Given the description of an element on the screen output the (x, y) to click on. 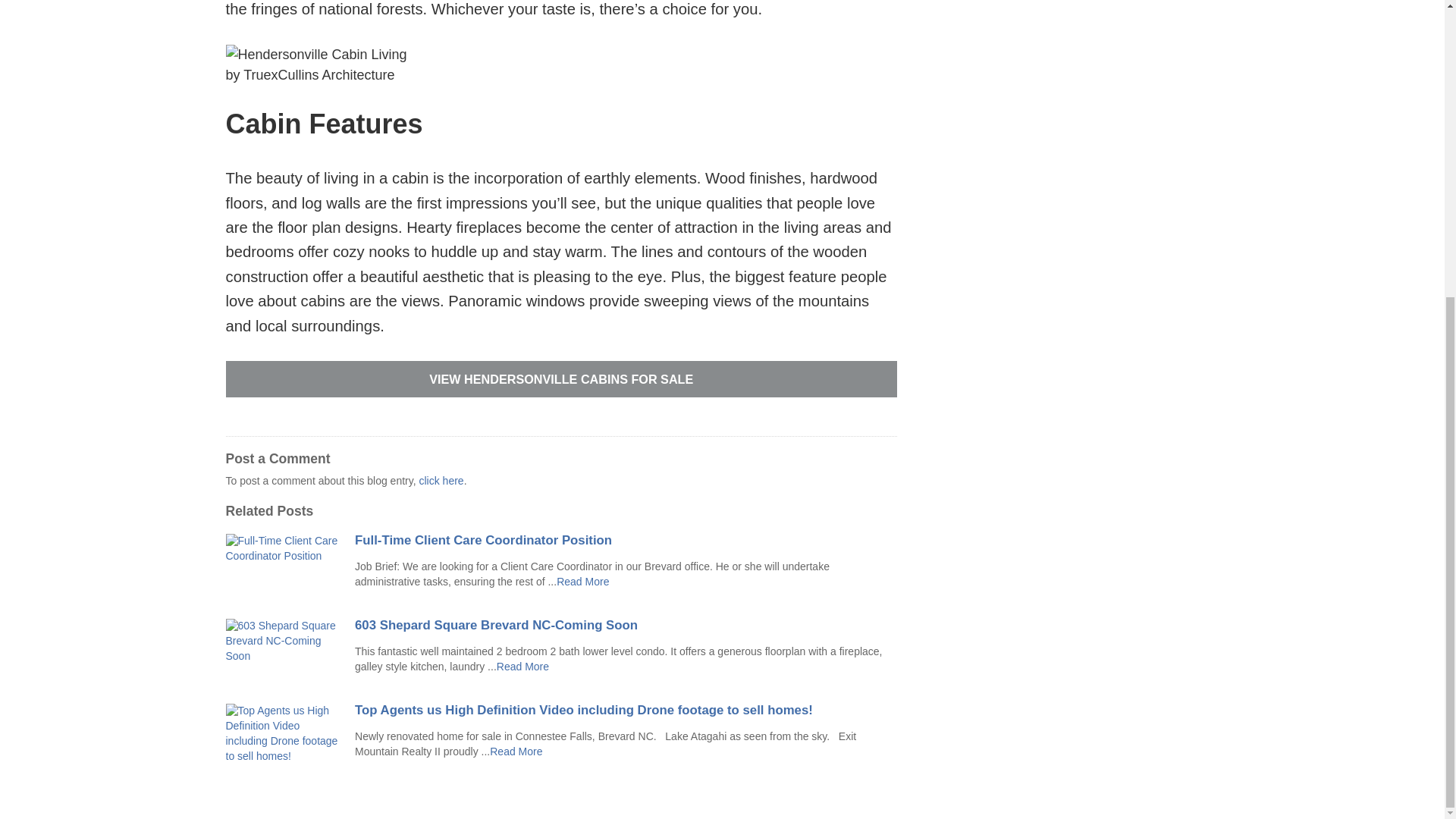
Full-Time Client Care Coordinator Position (625, 540)
Cabin Living in Henderson County (582, 581)
603 Shepard Square Brevard NC-Coming Soon (625, 625)
Cabin Living in Henderson County (522, 666)
Cabin Living in Henderson County (515, 751)
